Given the description of an element on the screen output the (x, y) to click on. 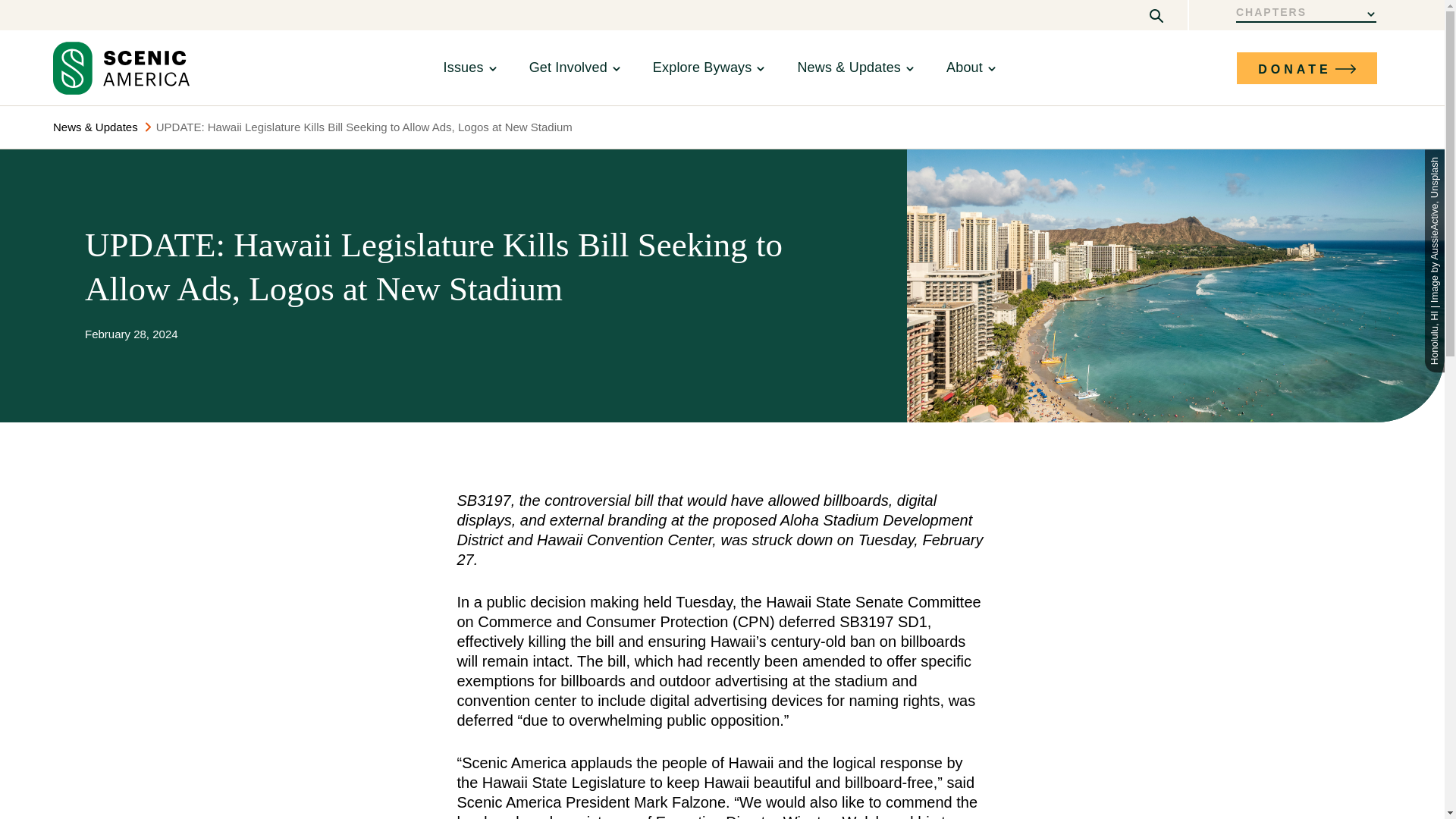
Explore Byways (702, 67)
Scenic America (120, 68)
Issues (463, 67)
Get Involved (568, 67)
CHAPTERS (1305, 13)
